Given the description of an element on the screen output the (x, y) to click on. 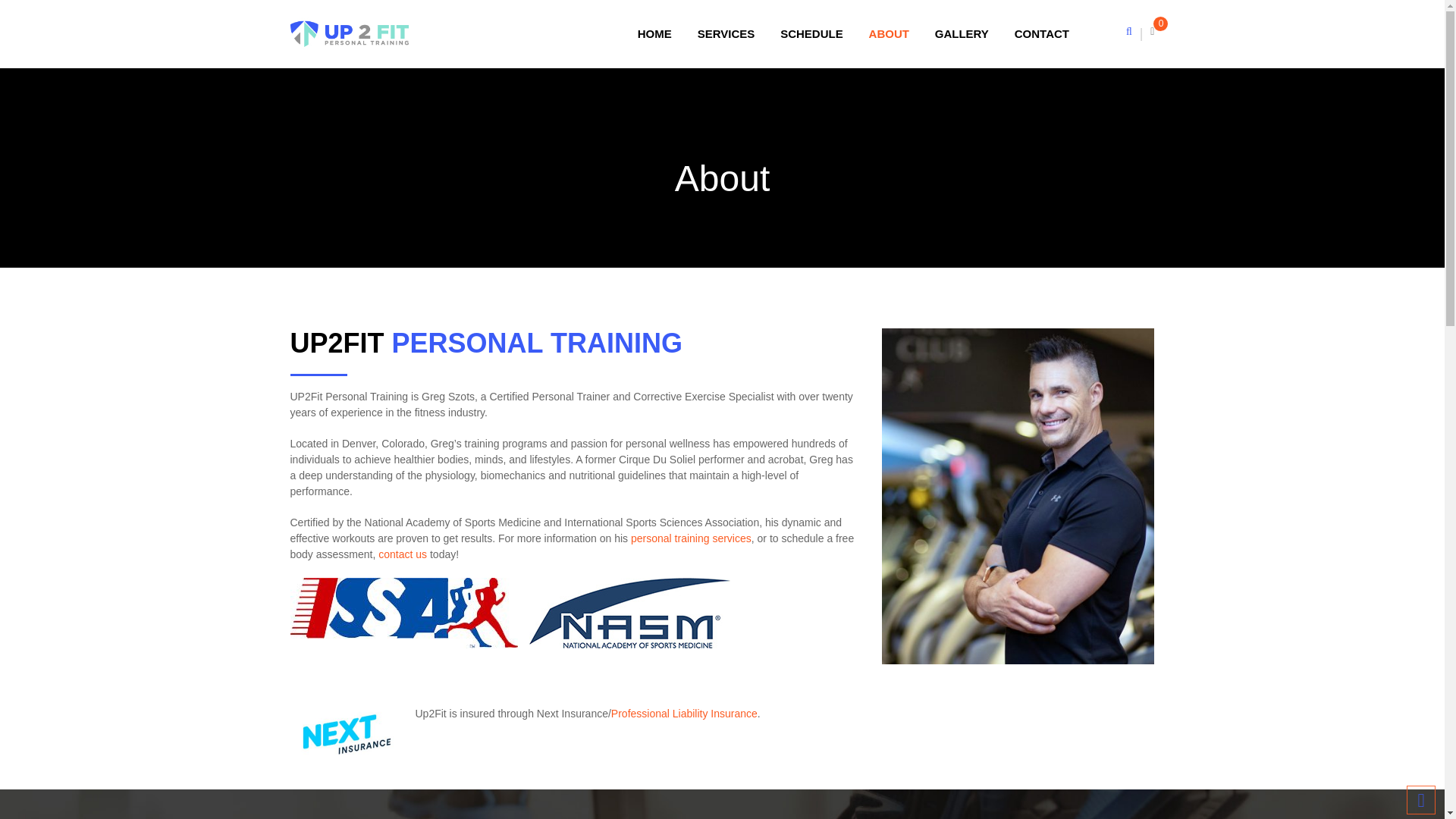
GALLERY (961, 33)
CONTACT (1041, 33)
SERVICES (726, 33)
contact us (402, 553)
ABOUT (888, 33)
personal training services (690, 538)
SCHEDULE (811, 33)
Professional Liability Insurance (684, 713)
